Given the description of an element on the screen output the (x, y) to click on. 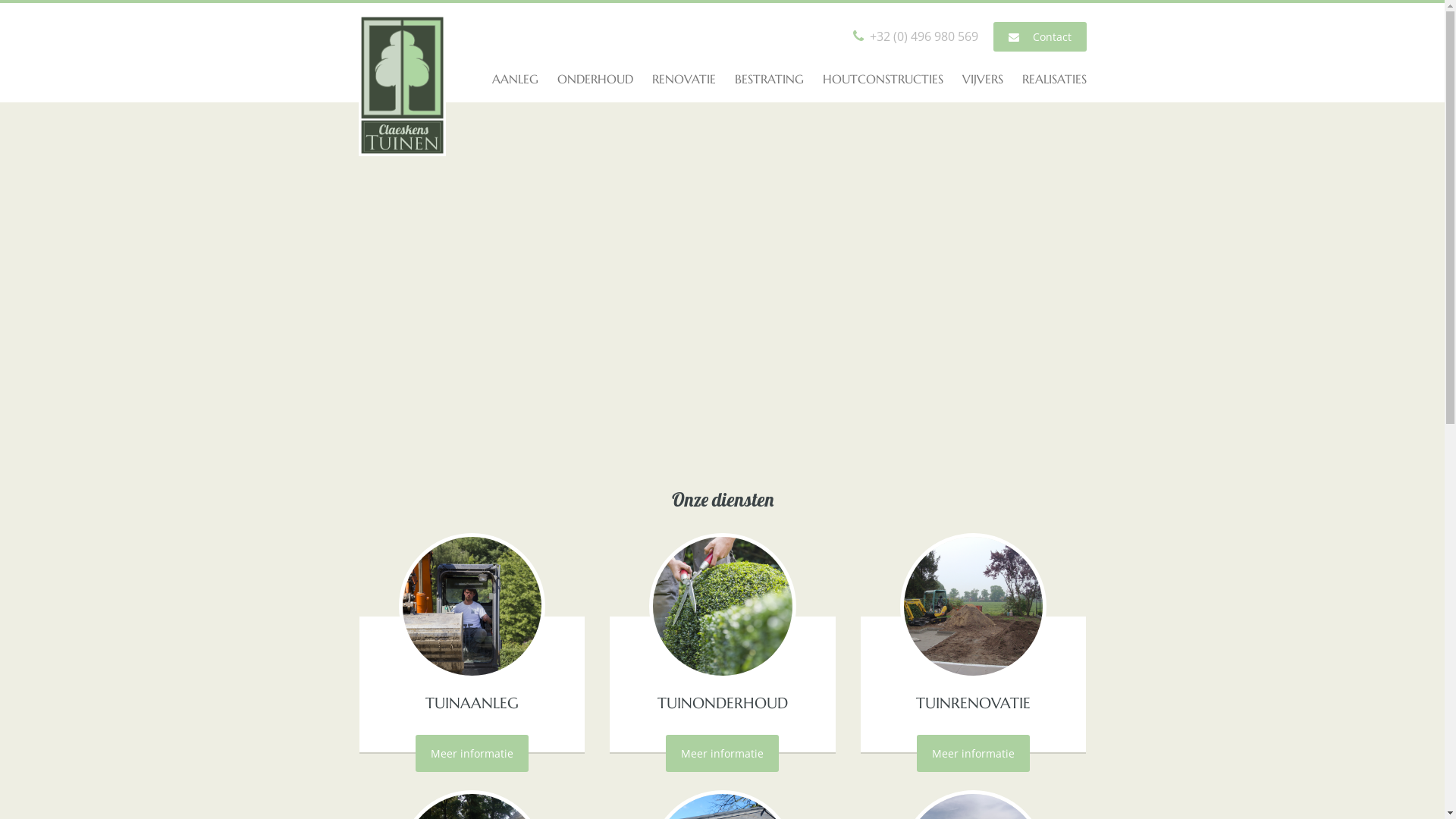
Meer informatie Element type: text (471, 752)
BESTRATING Element type: text (768, 78)
TUINRENOVATIE Element type: text (973, 702)
RENOVATIE Element type: text (683, 78)
  Contact Element type: text (1039, 36)
HOUTCONSTRUCTIES Element type: text (882, 78)
ONDERHOUD Element type: text (594, 78)
TUINAANLEG Element type: text (471, 702)
VIJVERS Element type: text (981, 78)
Meer informatie Element type: text (972, 752)
AANLEG Element type: text (514, 78)
REALISATIES Element type: text (1054, 78)
TUINONDERHOUD Element type: text (722, 702)
Meer informatie Element type: text (721, 752)
